Given the description of an element on the screen output the (x, y) to click on. 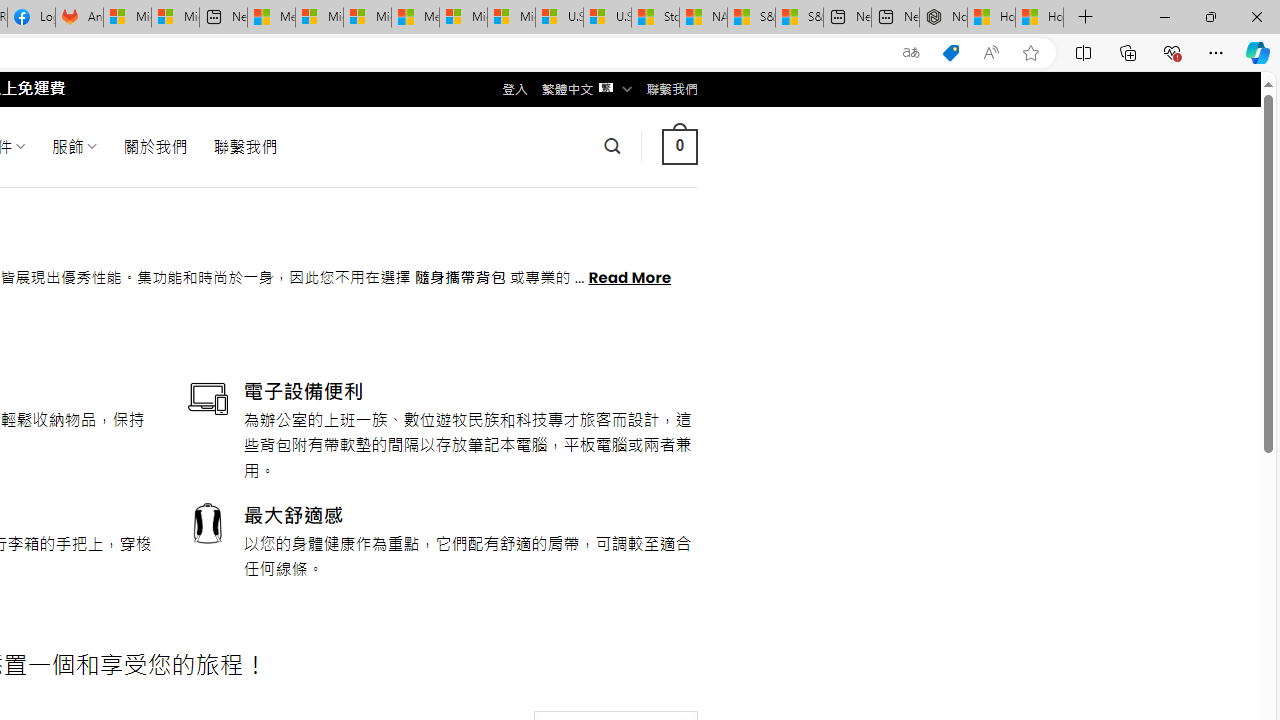
Read More (629, 276)
This site has coupons! Shopping in Microsoft Edge (950, 53)
Show translate options (910, 53)
Microsoft account | Home (367, 17)
